Given the description of an element on the screen output the (x, y) to click on. 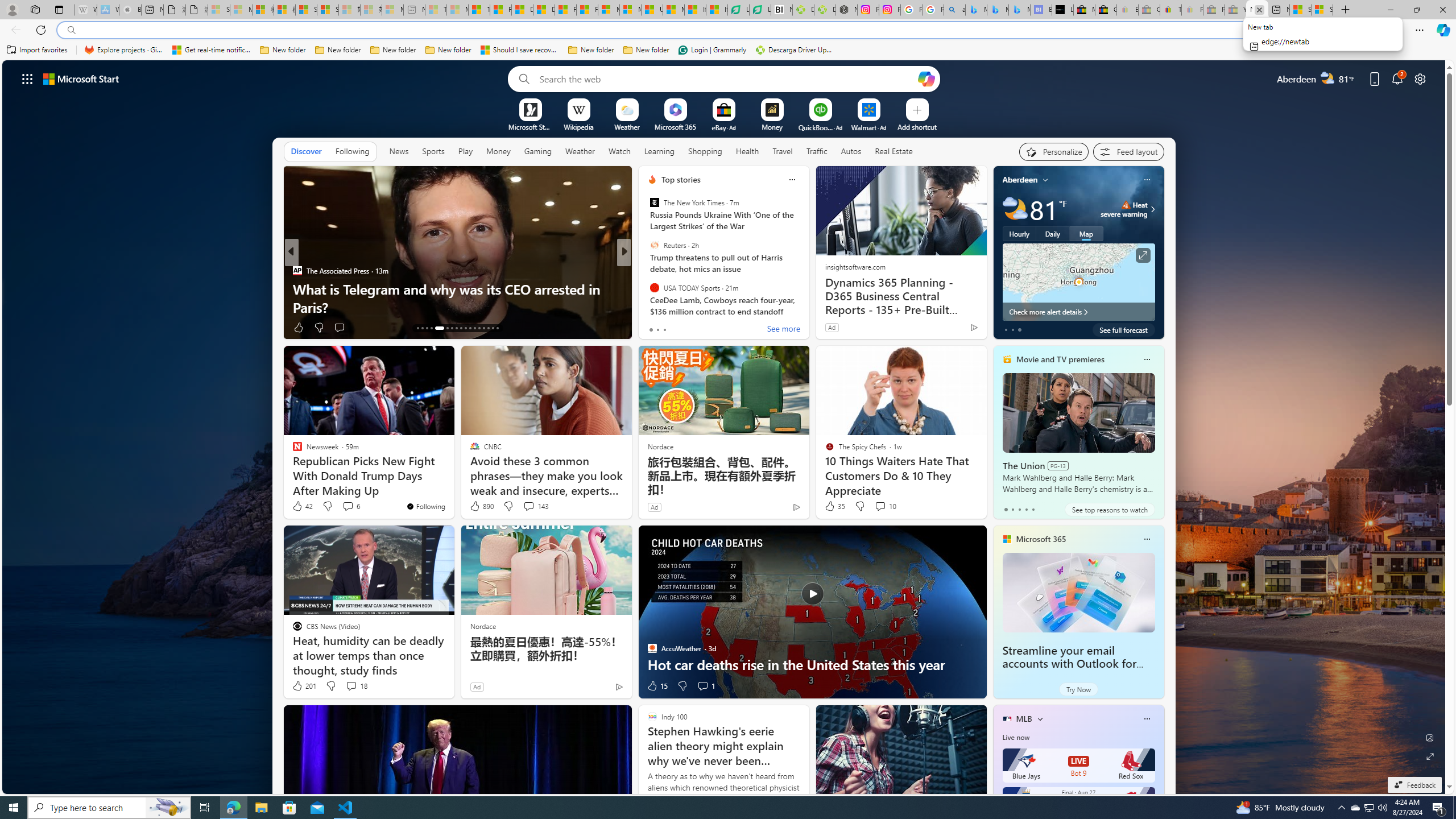
Map (1085, 233)
Start the conversation (695, 327)
View comments 14 Comment (707, 327)
View comments 66 Comment (703, 327)
See full forecast (1123, 329)
View comments 1 Comment (705, 685)
tab-1 (1012, 509)
Sports (432, 151)
Microsoft account | Account Checkup - Sleeping (392, 9)
